Given the description of an element on the screen output the (x, y) to click on. 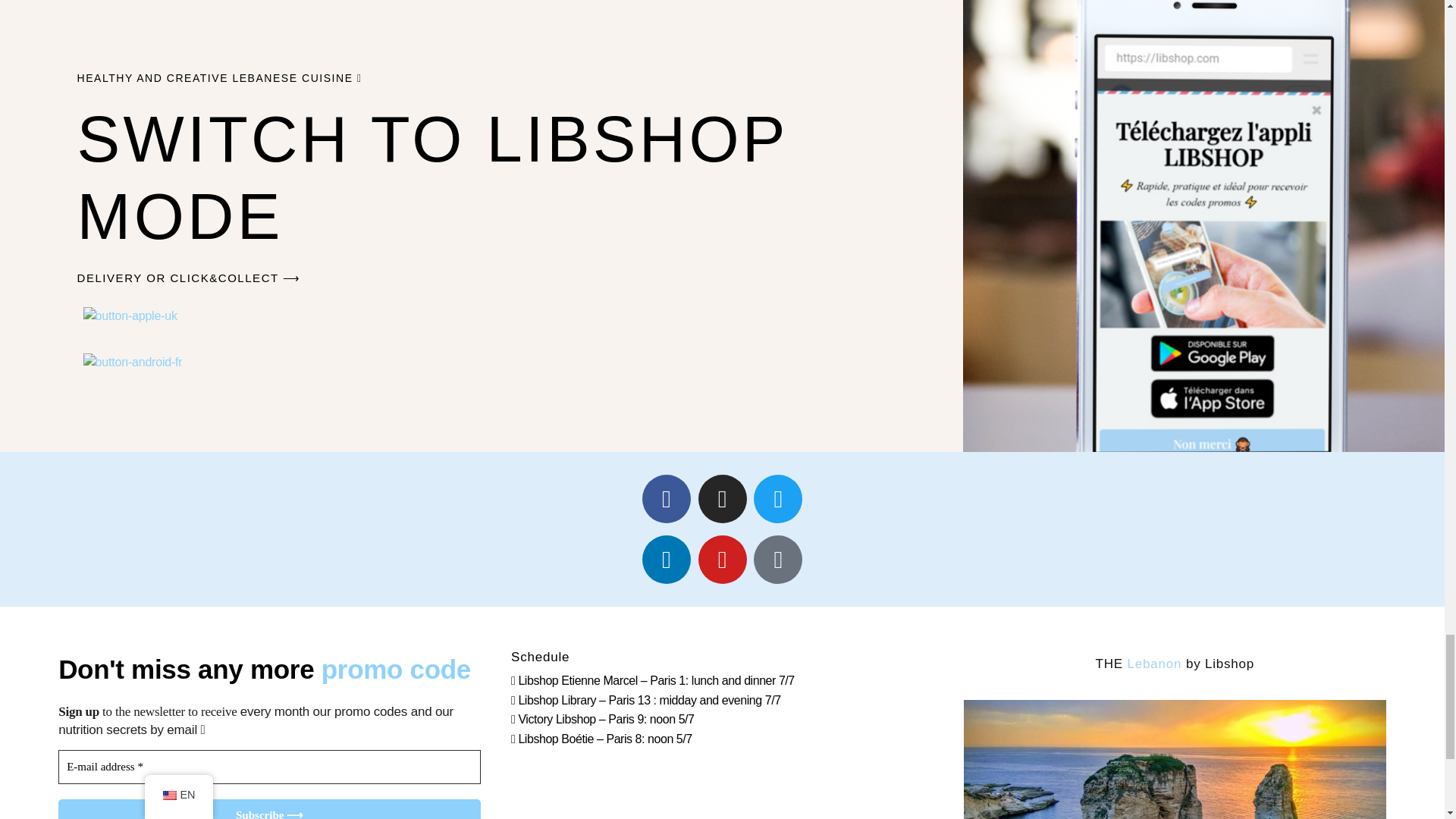
button-android-fr (132, 361)
button-apple-uk (129, 316)
E-mail address (269, 766)
